Given the description of an element on the screen output the (x, y) to click on. 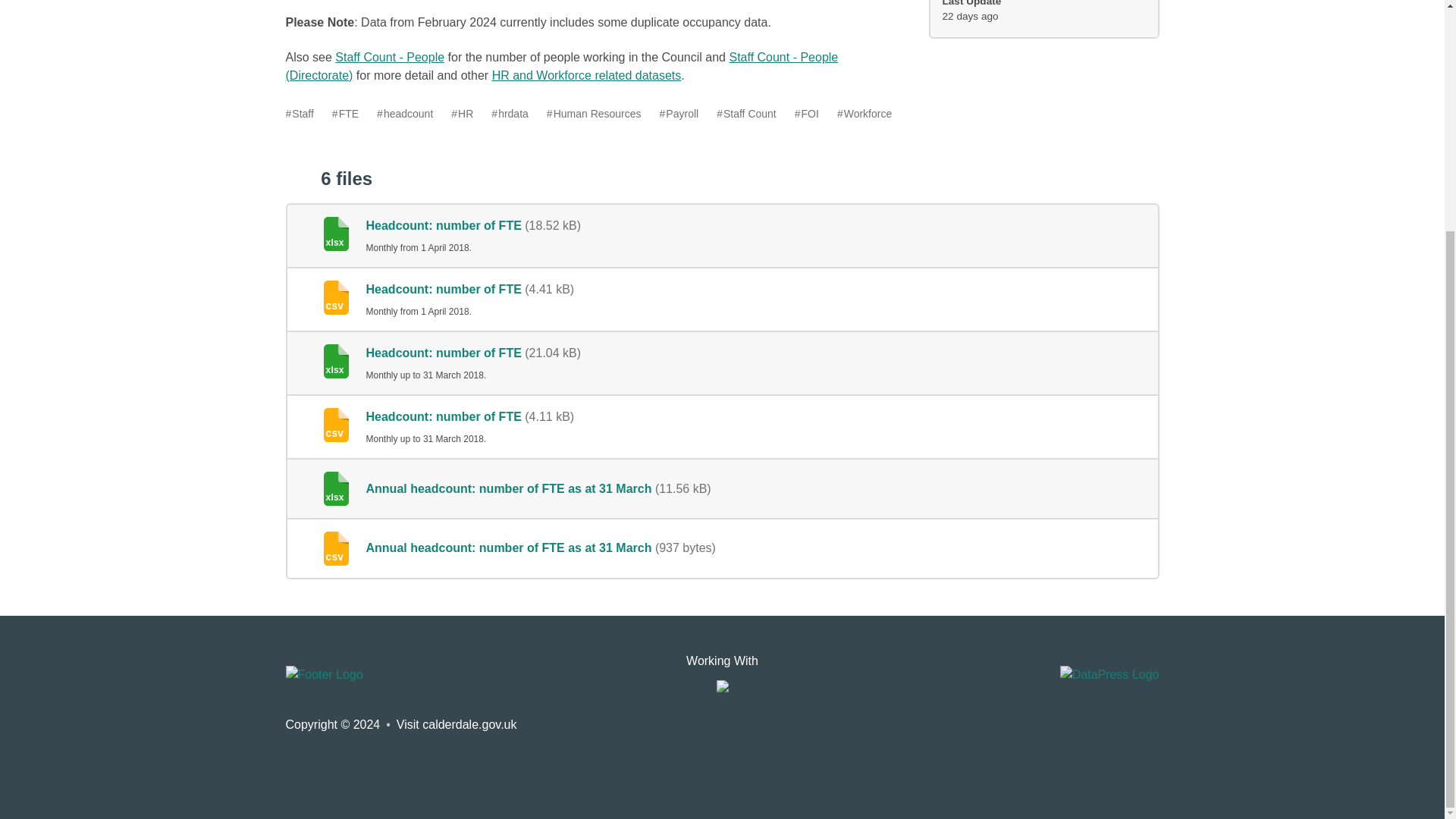
HR and Workforce related datasets (586, 74)
Staff Count - People (389, 56)
DataPress Data Catalogue (1108, 674)
